Given the description of an element on the screen output the (x, y) to click on. 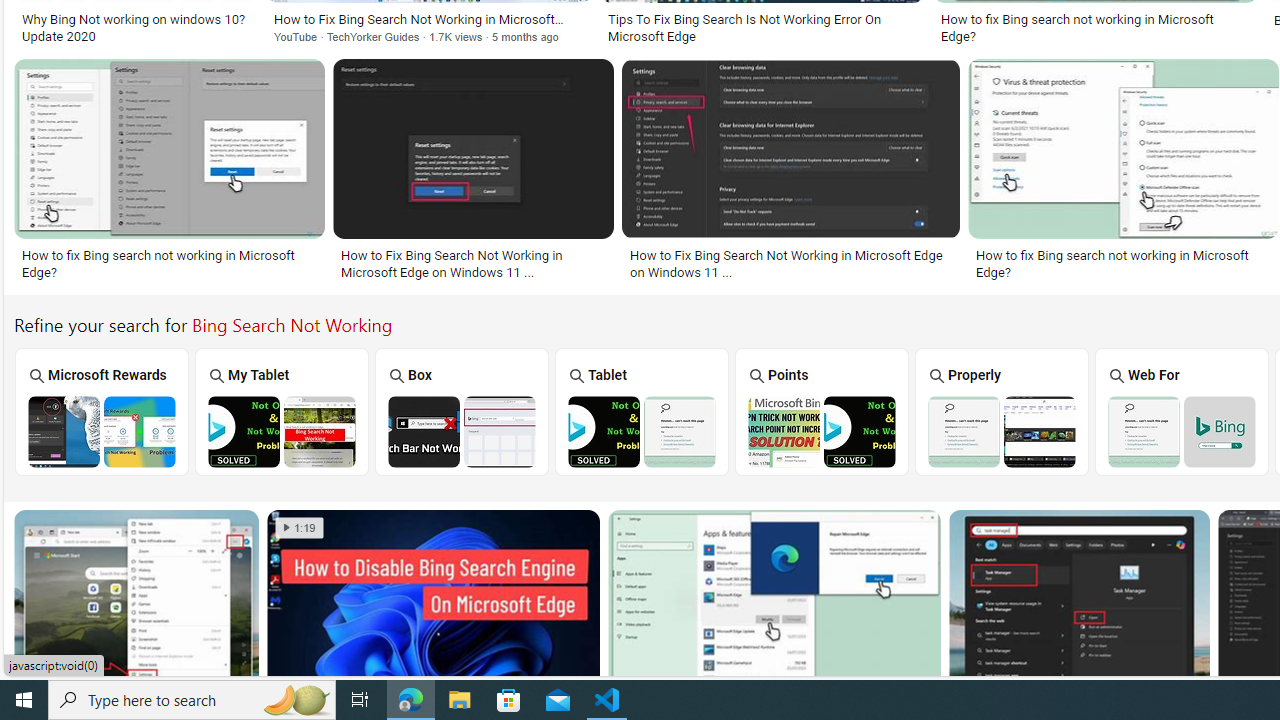
Bing Search Box Not Working (462, 431)
Tablet (641, 411)
Bing Search Points Not Working (821, 431)
Web For (1181, 411)
Bing Search the Web for Image Not Working (1181, 431)
Bing Search Points Not Working Points (821, 411)
Bing Search Not Working On My Tablet (281, 431)
